Given the description of an element on the screen output the (x, y) to click on. 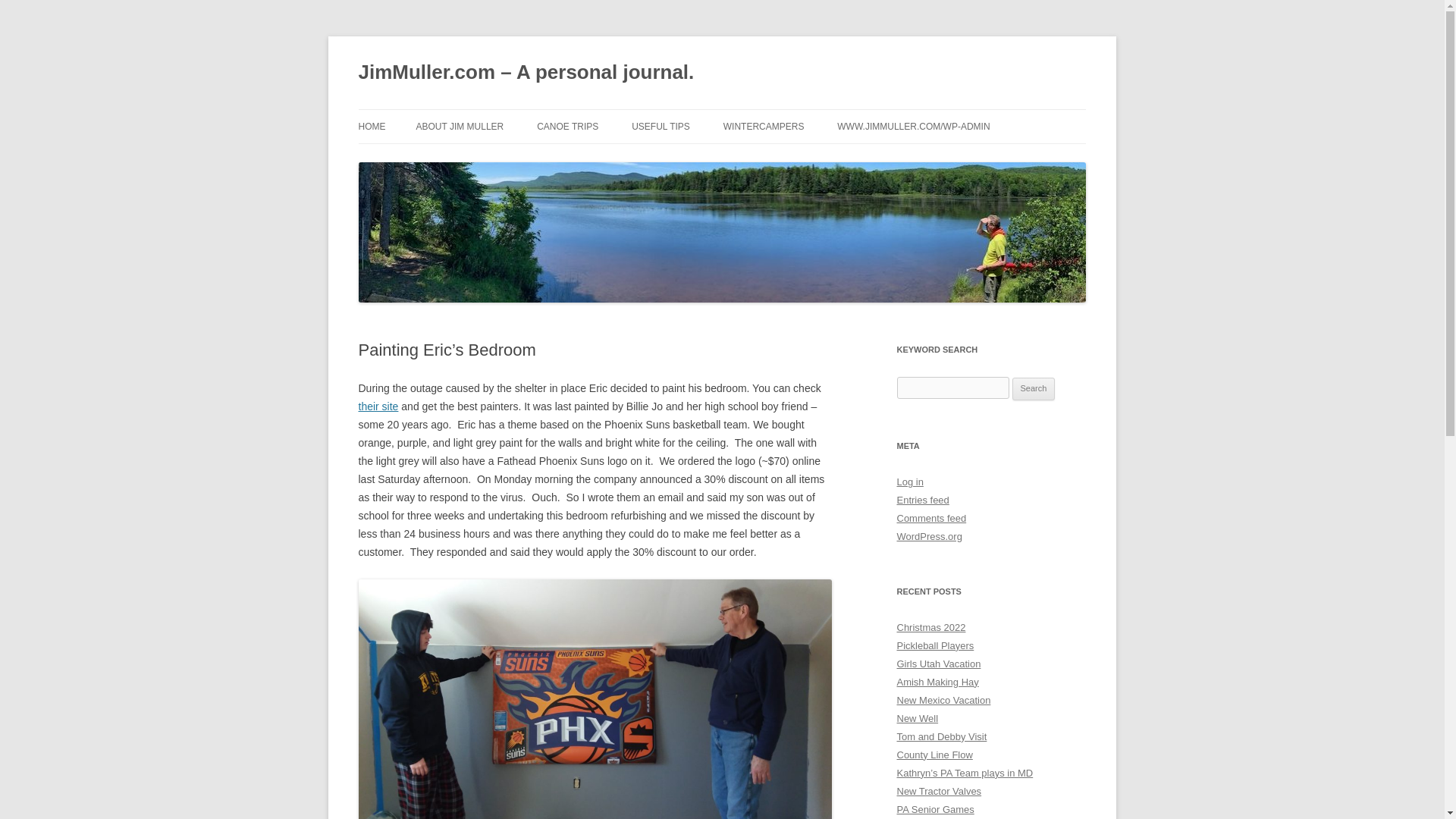
ABOUT JIM MULLER (458, 126)
Search (1033, 388)
RACQUETTE RIVER: AXTON LANDING (612, 167)
CANOE TRIPS (567, 126)
